Given the description of an element on the screen output the (x, y) to click on. 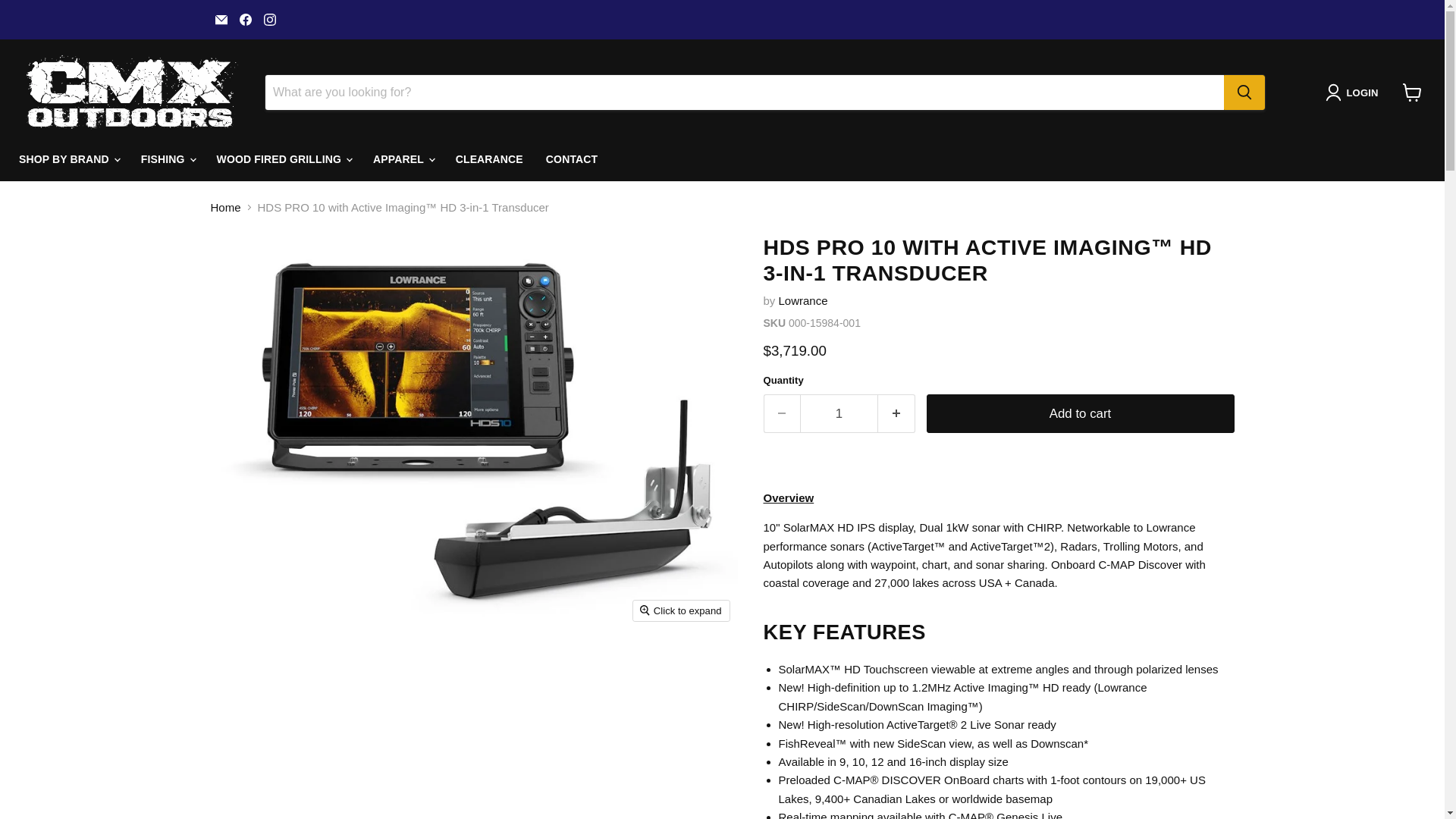
Find us on Instagram (270, 19)
Find us on Facebook (245, 19)
Email CMX Outdoors (221, 19)
Email (221, 19)
LOGIN (1354, 92)
Lowrance (803, 300)
HDS Pro 16 (914, 761)
Facebook (245, 19)
View cart (1411, 92)
Instagram (270, 19)
